Given the description of an element on the screen output the (x, y) to click on. 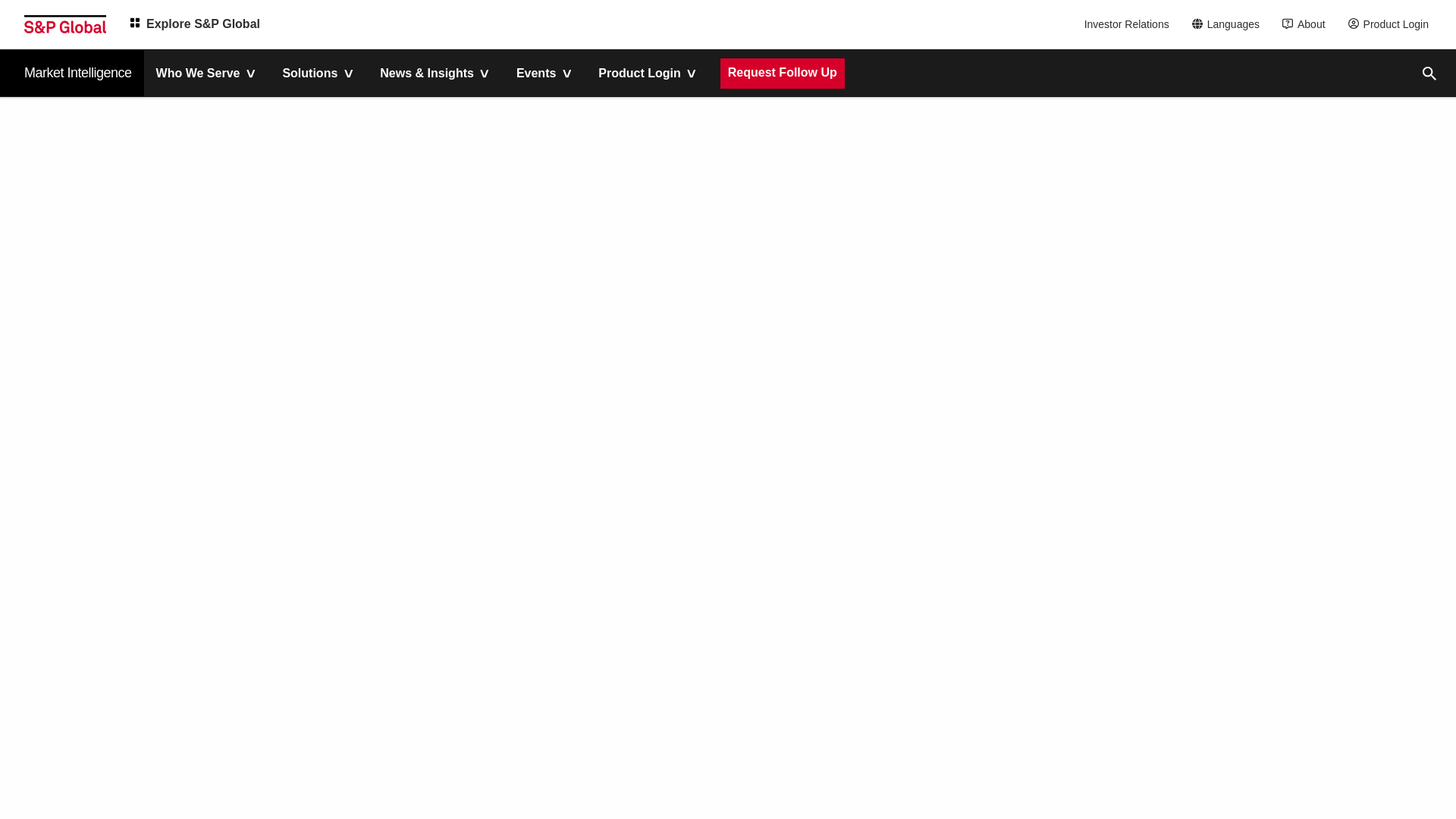
Languages (1230, 24)
Product Login (1392, 24)
Investor Relations (1129, 24)
About (1307, 24)
